Given the description of an element on the screen output the (x, y) to click on. 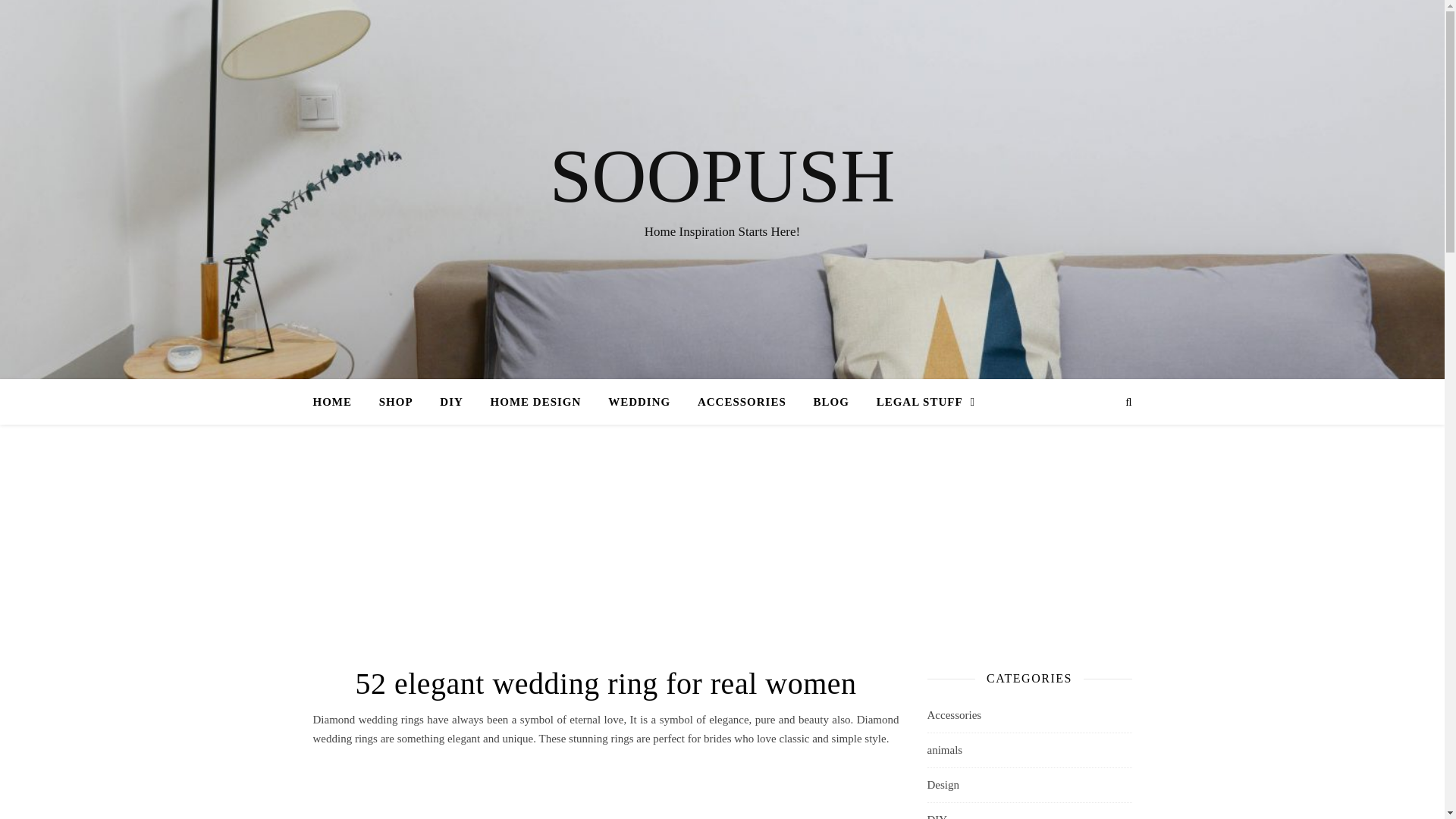
SHOP (395, 402)
LEGAL STUFF (919, 402)
HOME DESIGN (536, 402)
BLOG (831, 402)
WEDDING (638, 402)
HOME (338, 402)
ACCESSORIES (741, 402)
Advertisement (605, 789)
DIY (452, 402)
